Given the description of an element on the screen output the (x, y) to click on. 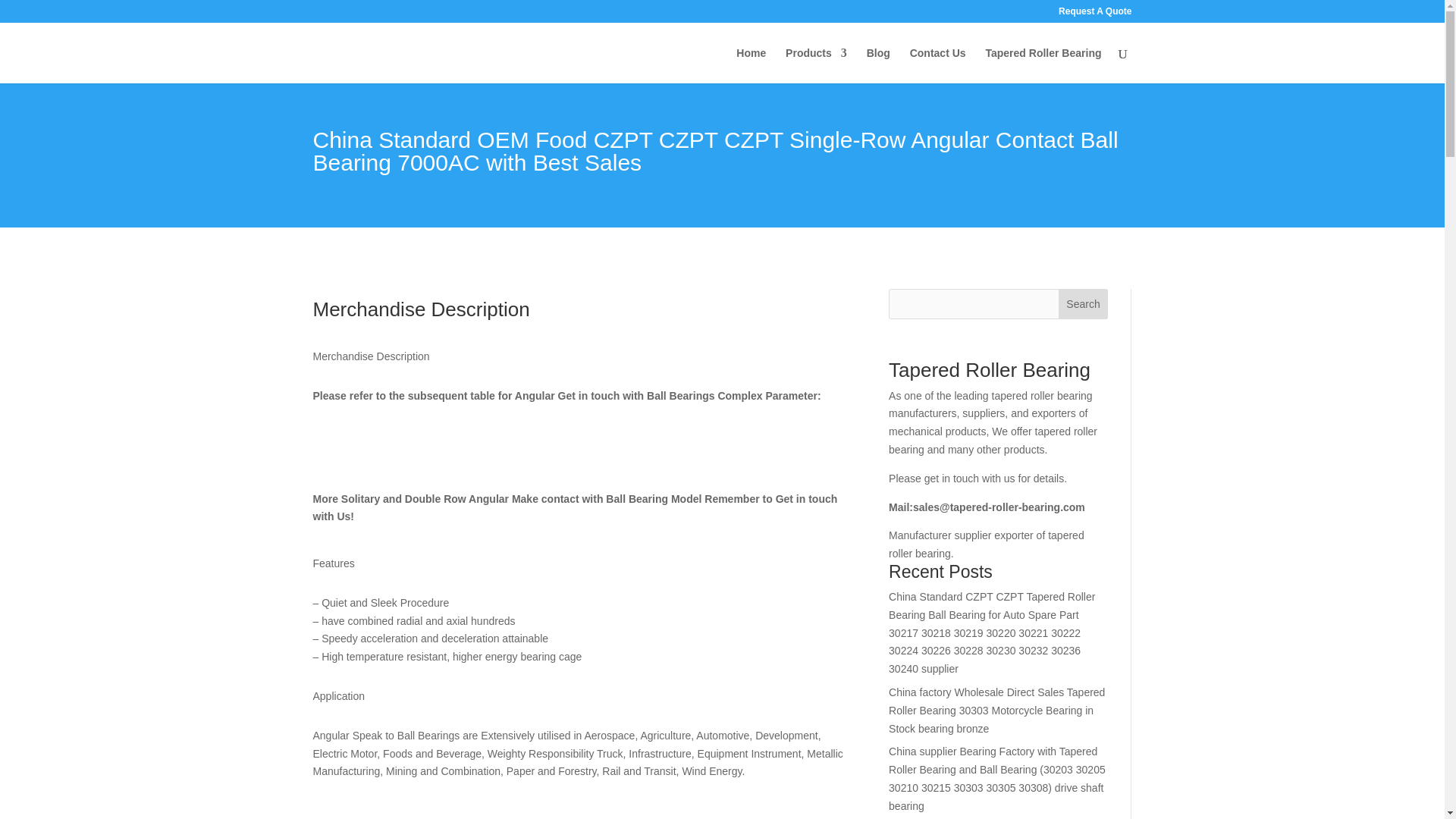
Products (816, 65)
Contact Us (938, 65)
Tapered Roller Bearing (1042, 65)
Request A Quote (1094, 14)
Search (1083, 304)
